Given the description of an element on the screen output the (x, y) to click on. 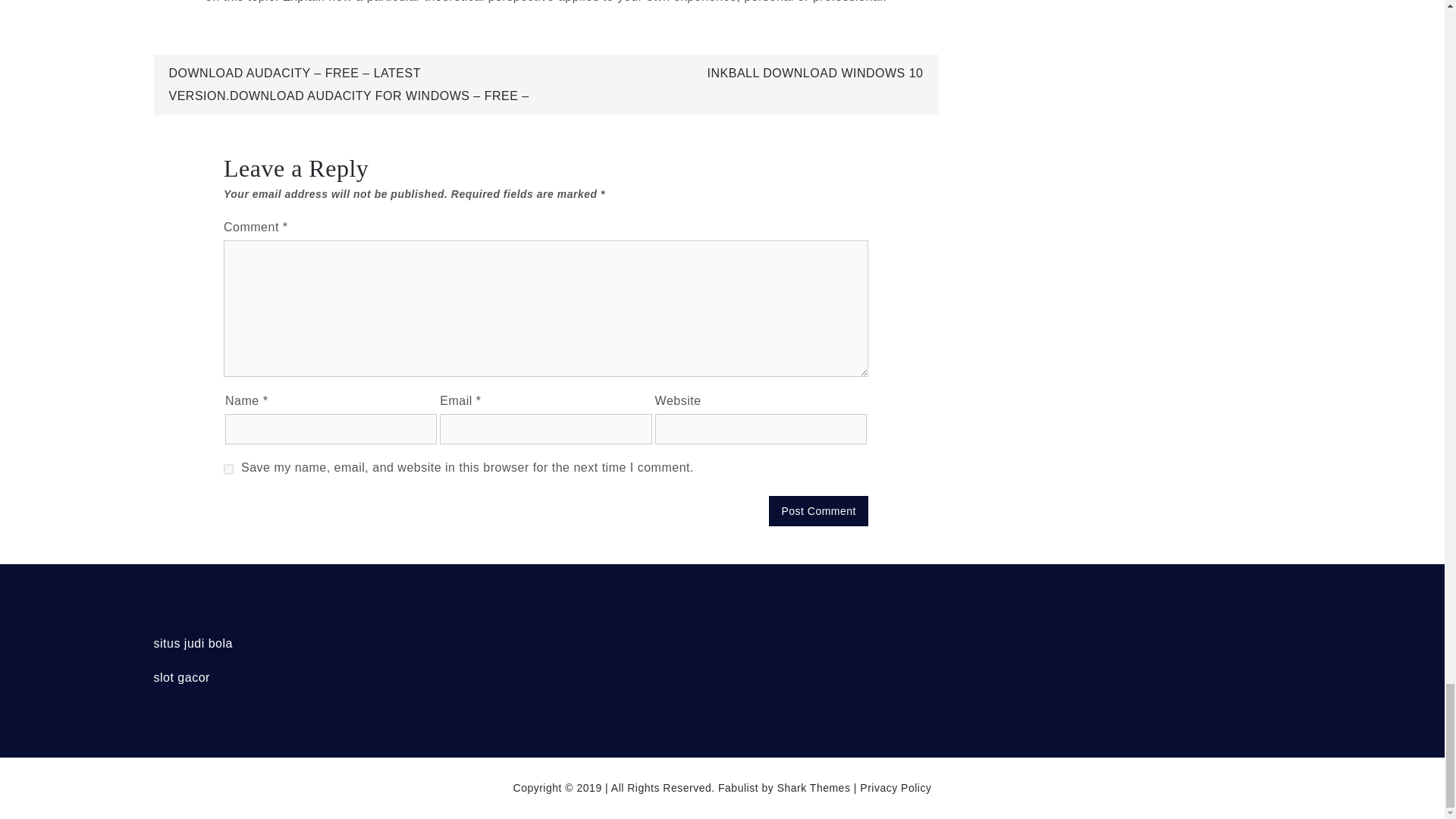
Post Comment (817, 511)
Post Comment (817, 511)
INKBALL DOWNLOAD WINDOWS 10 (815, 72)
